Given the description of an element on the screen output the (x, y) to click on. 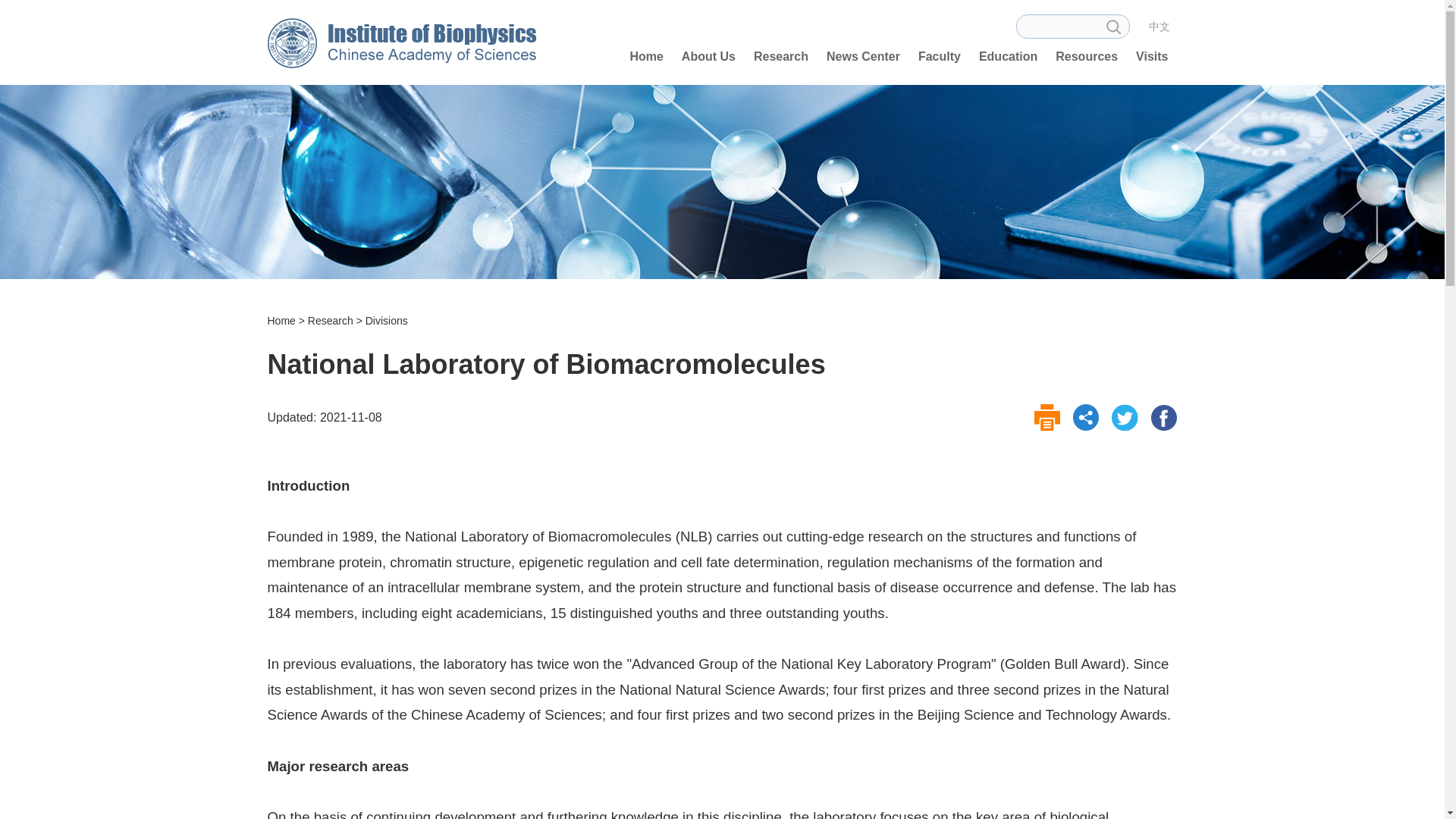
About Us (708, 56)
search (1112, 26)
Faculty (938, 56)
News Center (862, 56)
Research (780, 56)
Resources (1086, 56)
Home (645, 56)
Education (1007, 56)
